Given the description of an element on the screen output the (x, y) to click on. 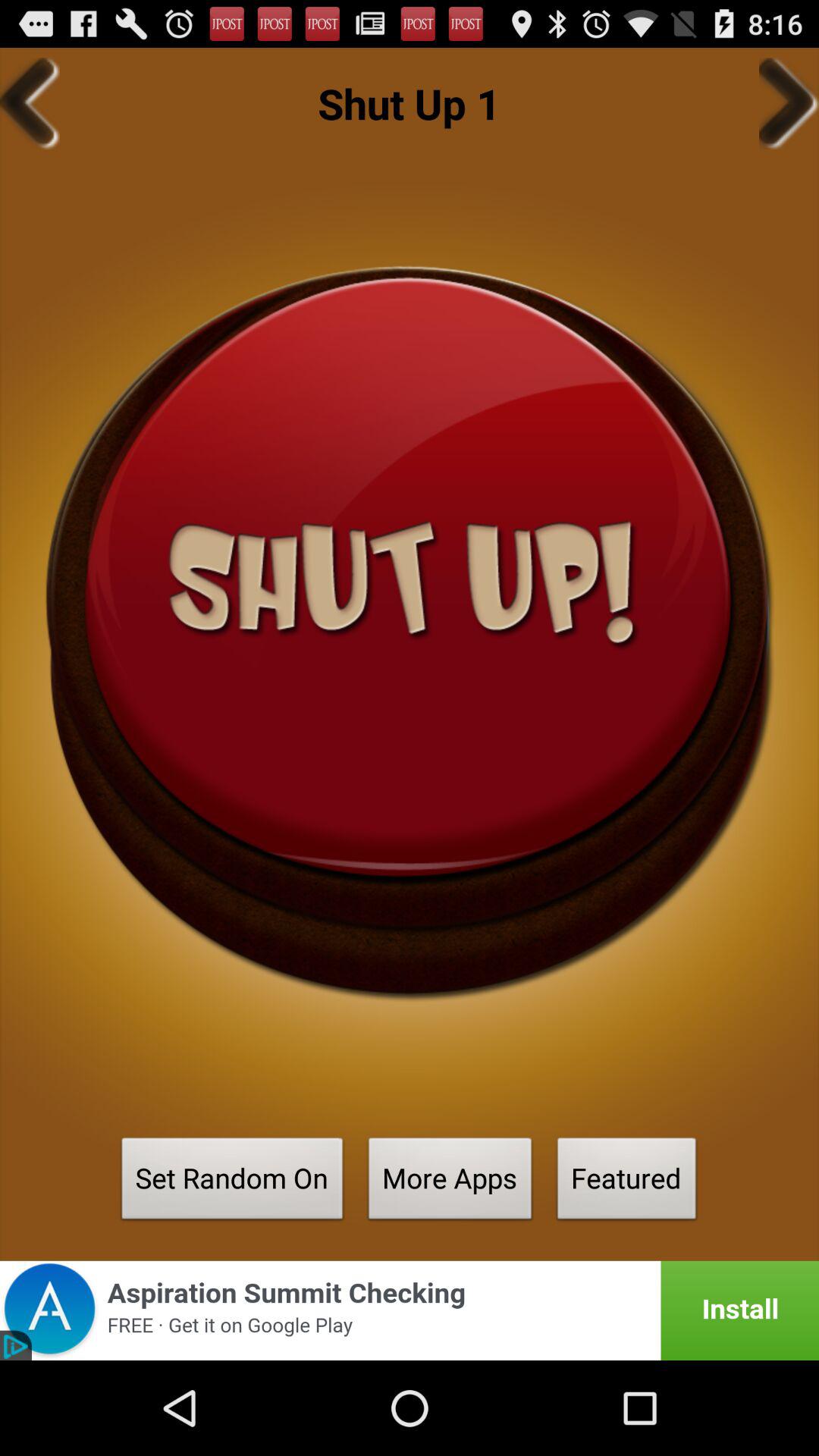
add for android app (409, 1310)
